Given the description of an element on the screen output the (x, y) to click on. 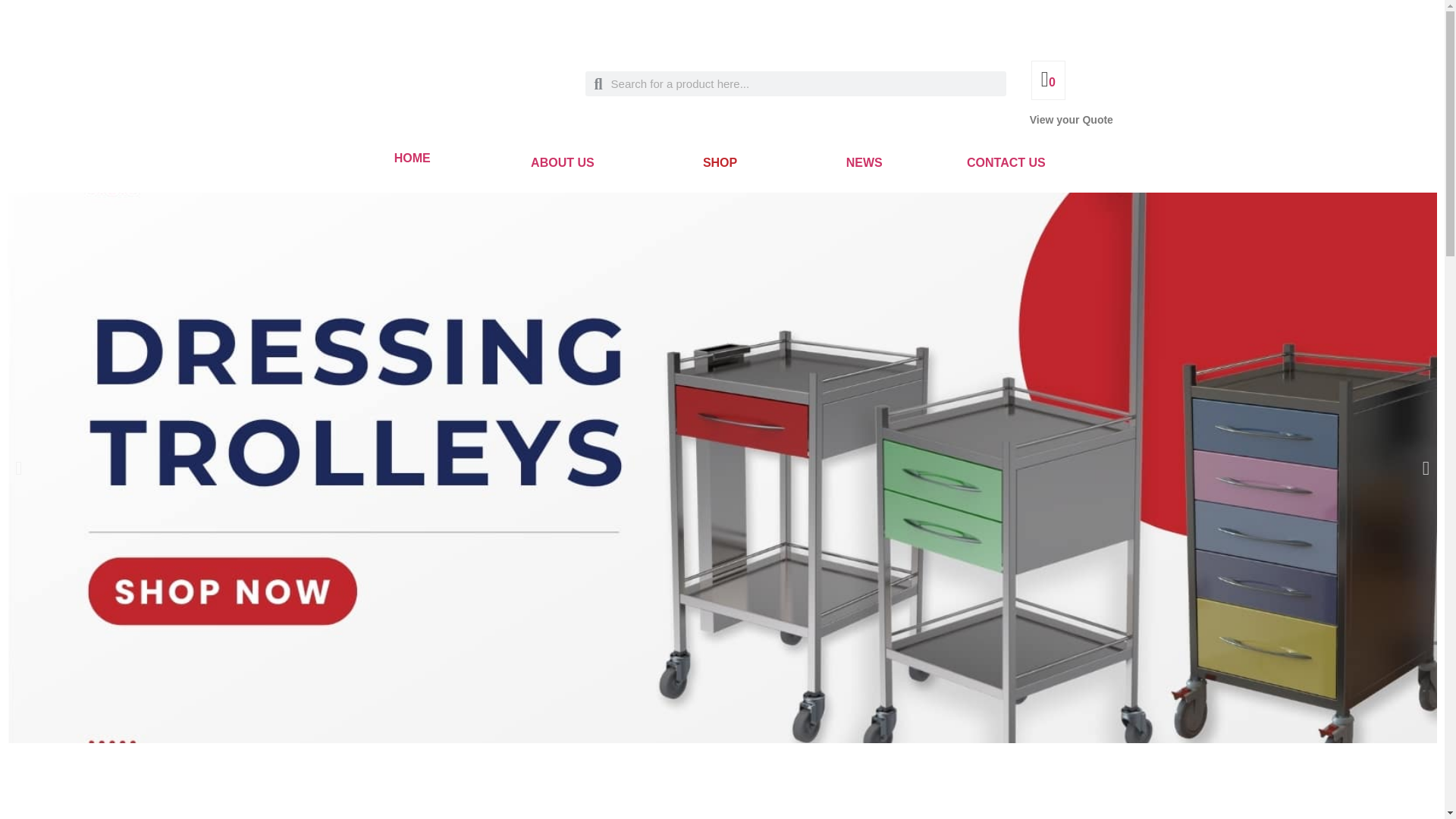
0 (1048, 82)
SHOP (719, 162)
HOME (412, 157)
ABOUT US (562, 162)
